Given the description of an element on the screen output the (x, y) to click on. 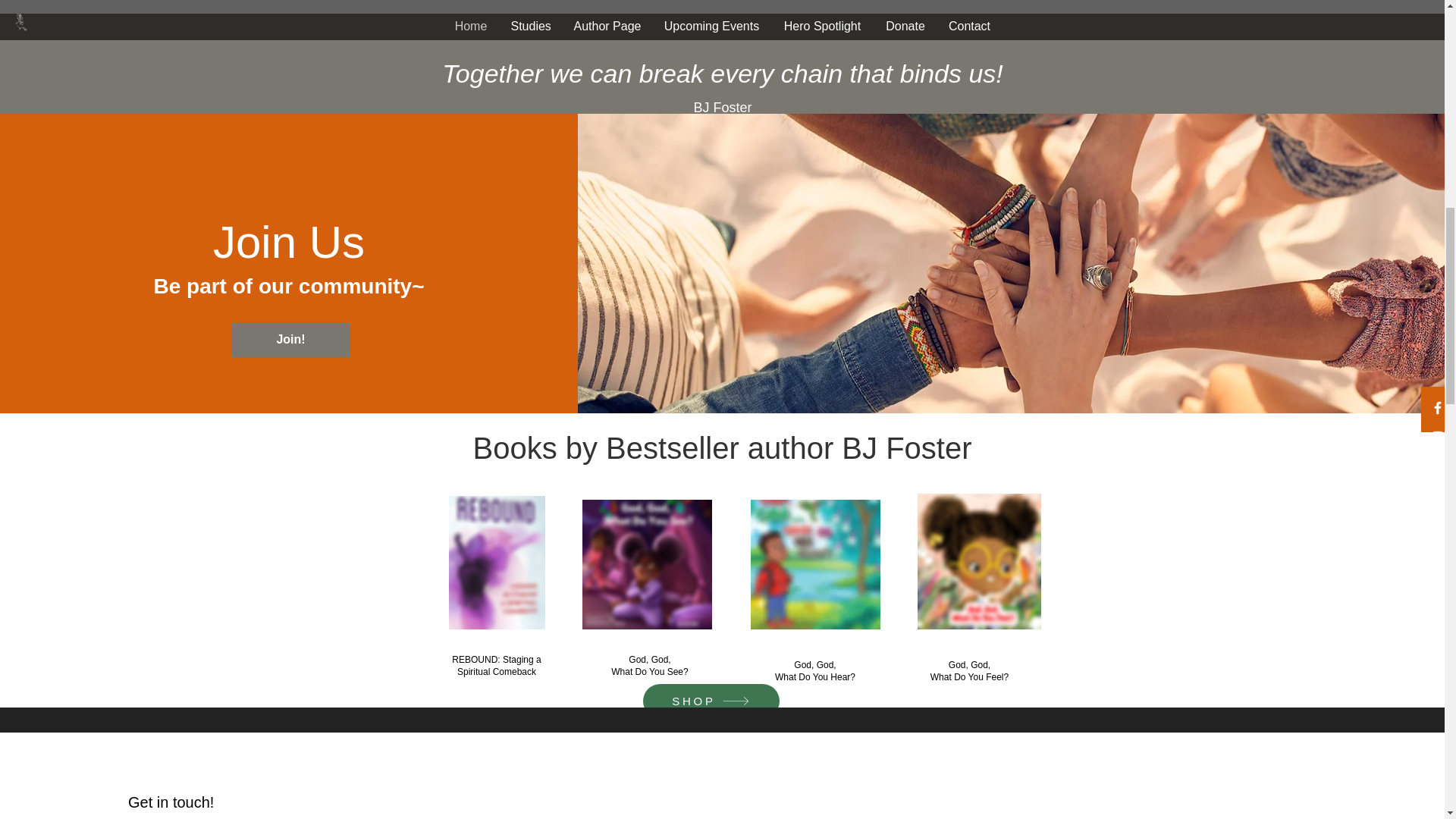
Join! (290, 339)
SHOP (710, 700)
